Given the description of an element on the screen output the (x, y) to click on. 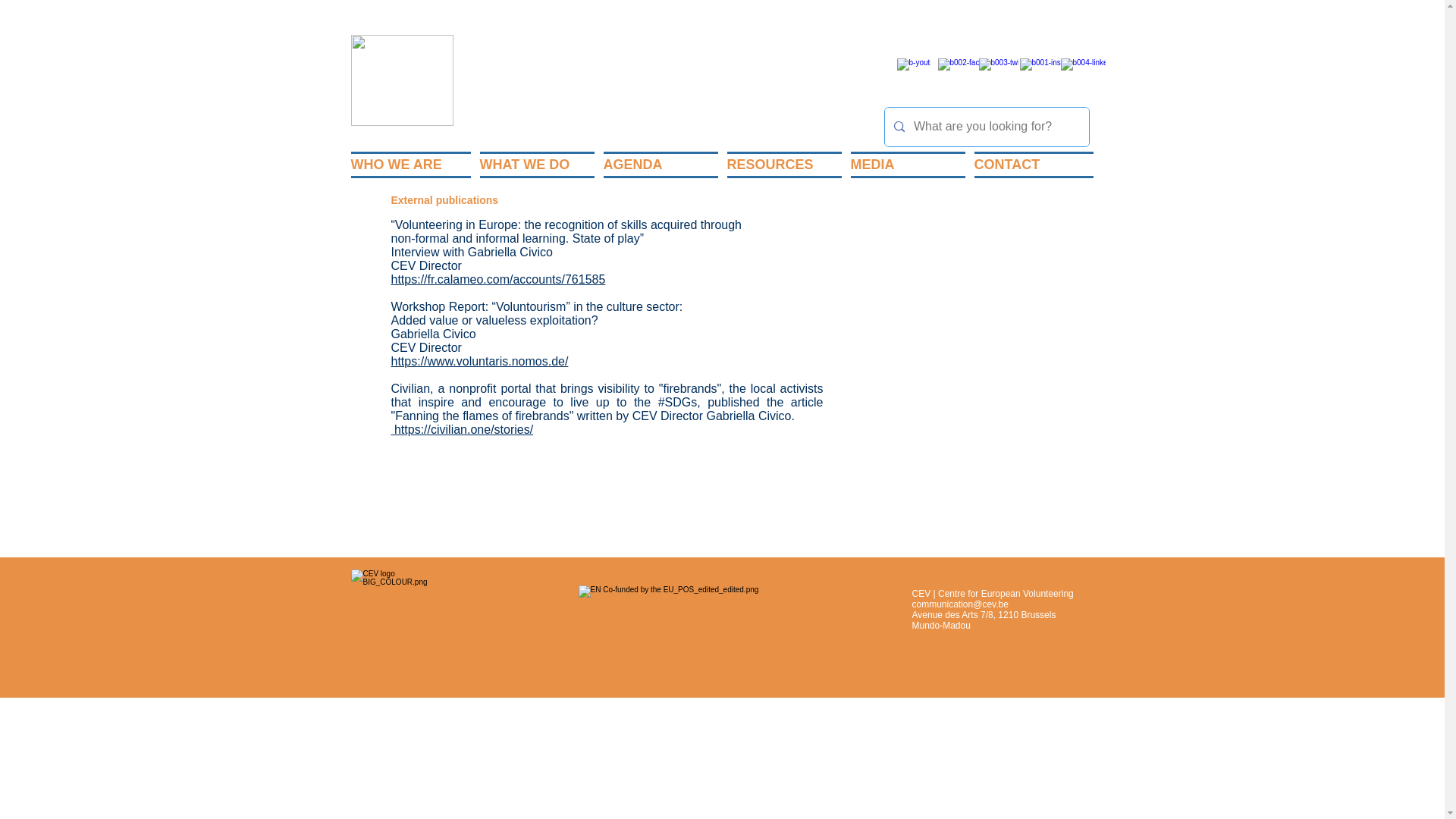
RESOURCES (783, 164)
WHO WE ARE (412, 164)
AGENDA (660, 164)
CONTACT (1031, 164)
MEDIA (907, 164)
WHAT WE DO (536, 164)
